Given the description of an element on the screen output the (x, y) to click on. 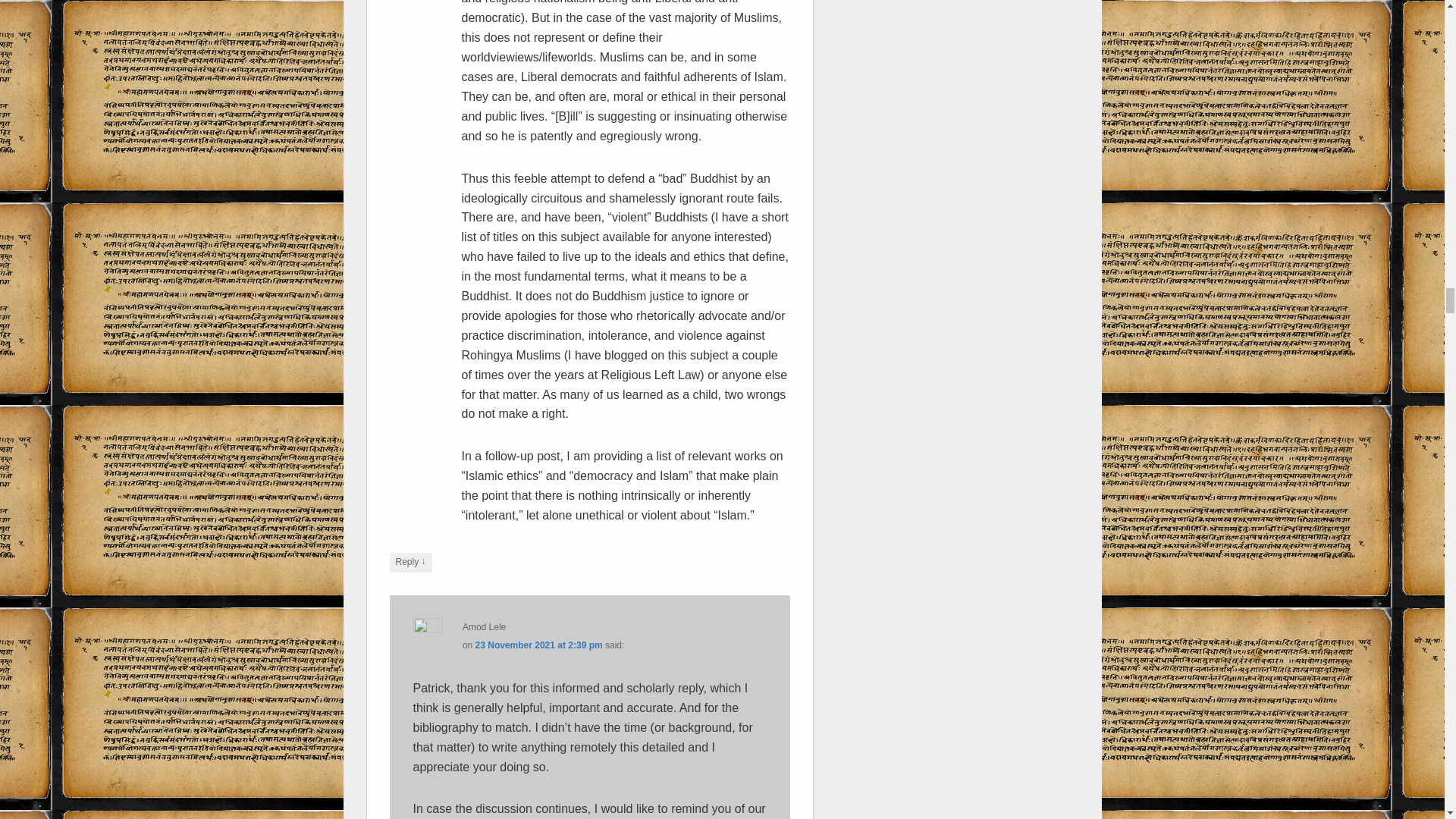
23 November 2021 at 2:39 pm (539, 644)
